Given the description of an element on the screen output the (x, y) to click on. 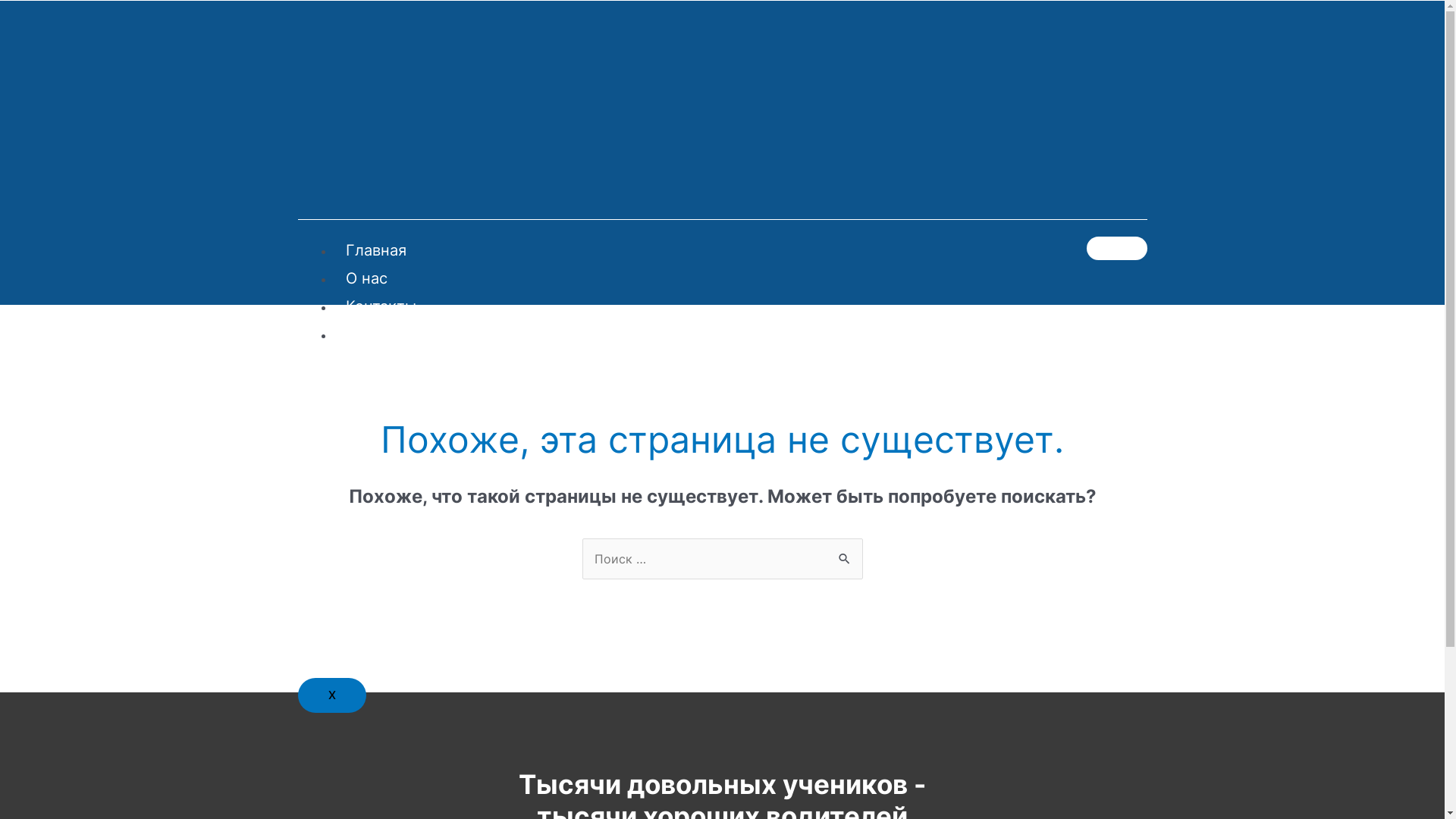
X Element type: text (331, 694)
